Given the description of an element on the screen output the (x, y) to click on. 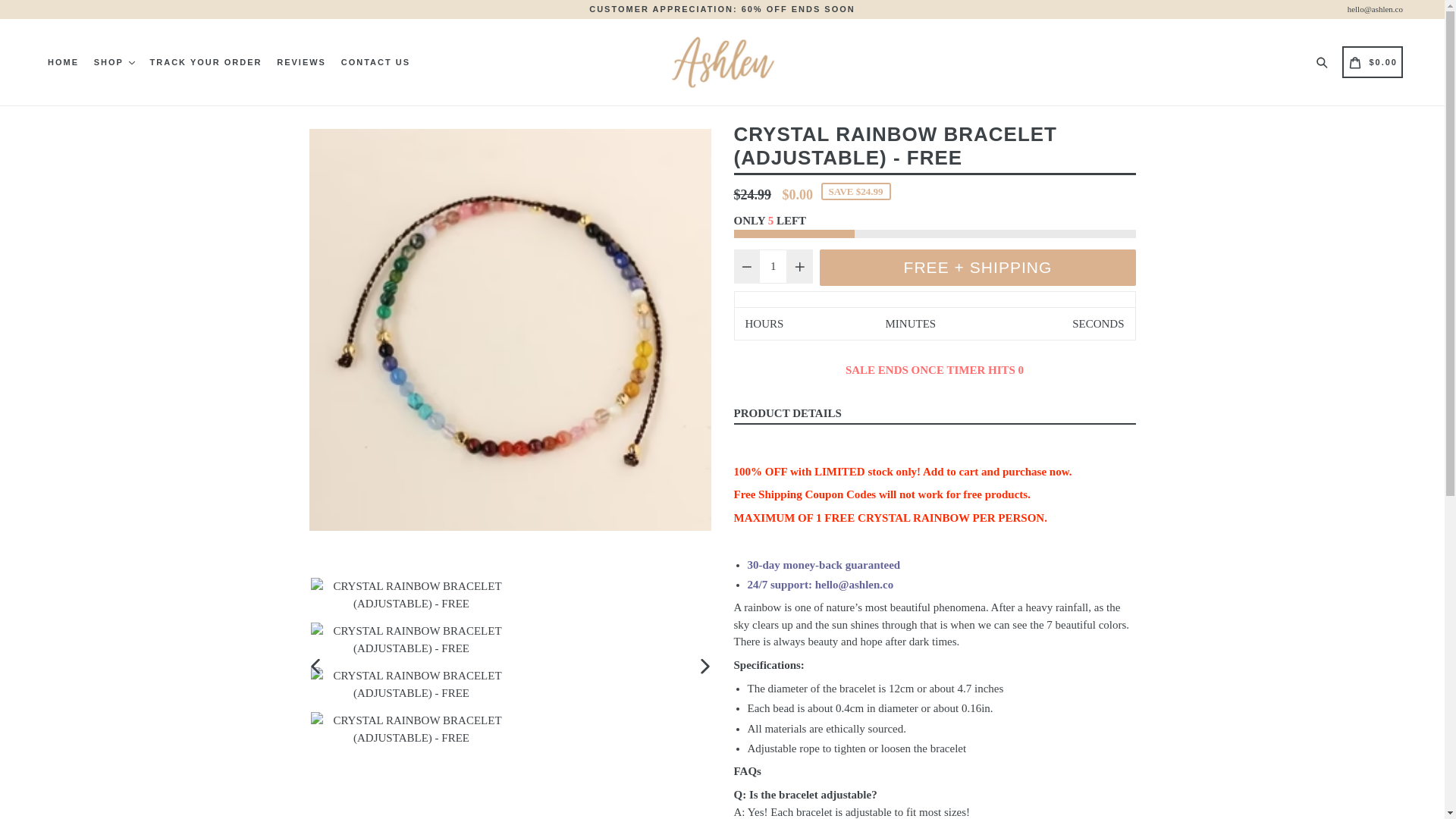
1 (773, 266)
TRACK YOUR ORDER (205, 62)
HOME (63, 62)
